Given the description of an element on the screen output the (x, y) to click on. 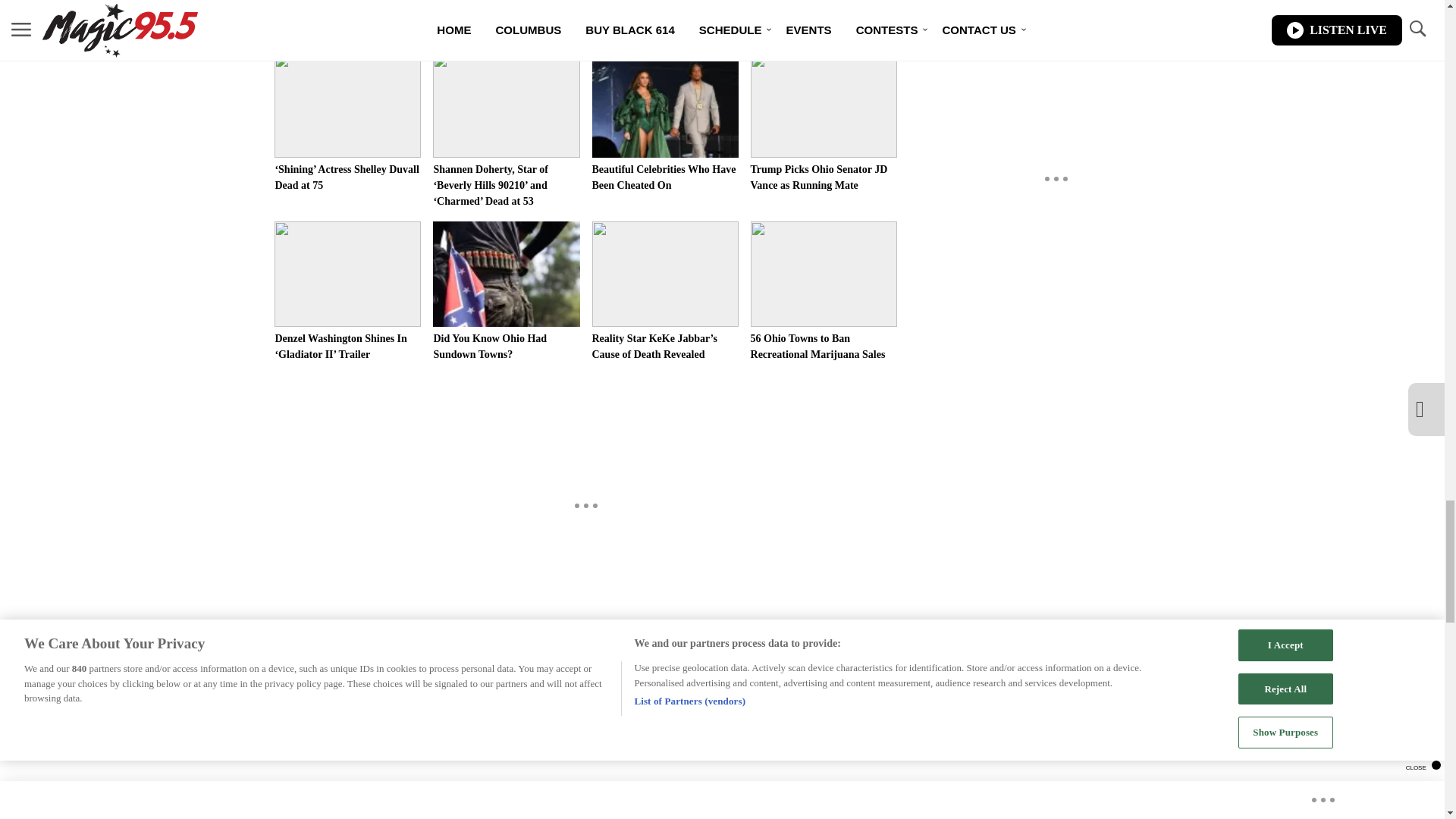
Vuukle Comments Widget (585, 734)
